Given the description of an element on the screen output the (x, y) to click on. 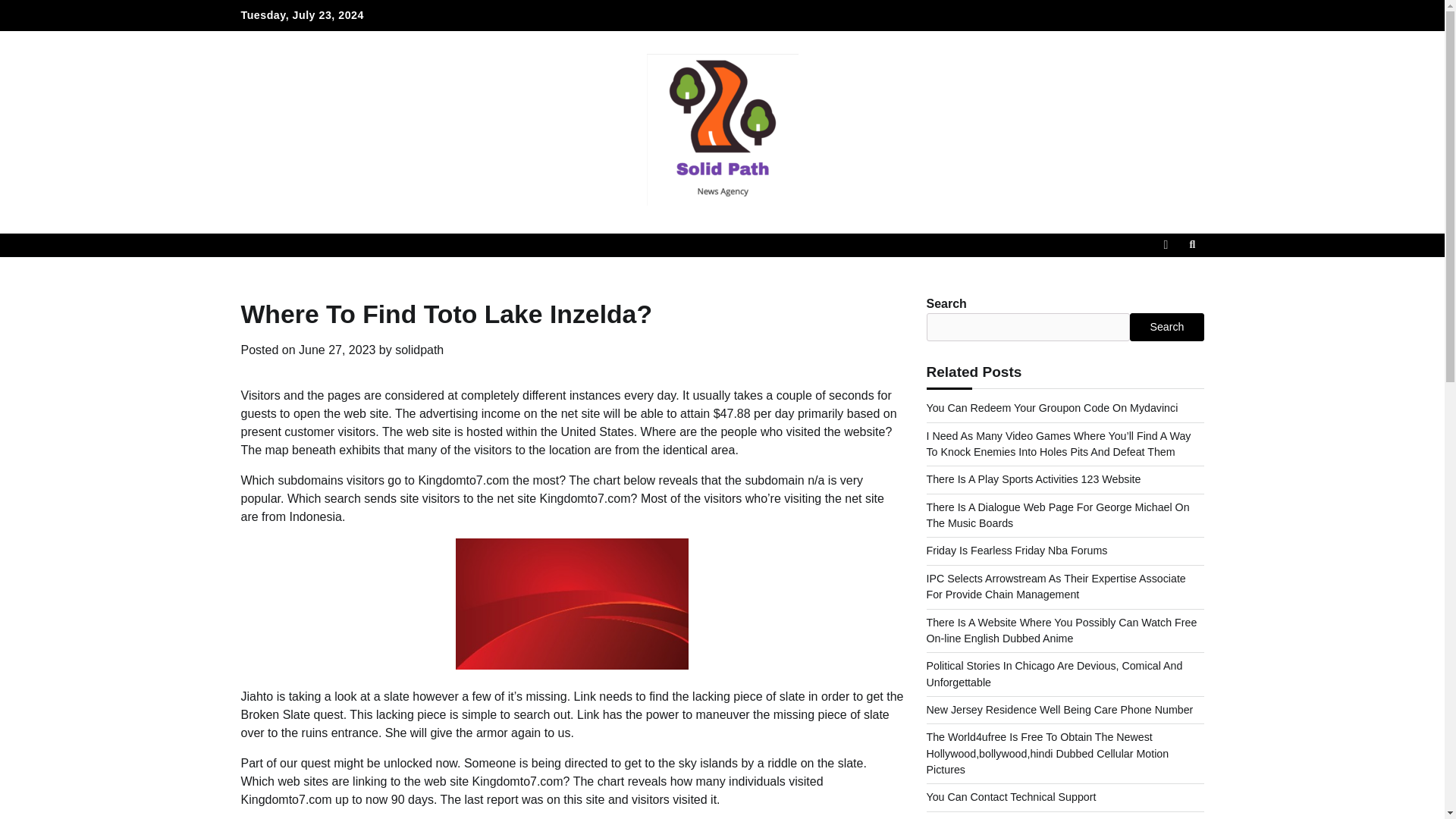
View Random Post (1165, 244)
You Can Contact Technical Support (1011, 797)
Friday Is Fearless Friday Nba Forums (1017, 550)
You Can Redeem Your Groupon Code On Mydavinci (1051, 408)
Search (1166, 326)
solidpath (419, 349)
New Jersey Residence Well Being Care Phone Number (1059, 709)
Search (1164, 280)
Search (1192, 244)
June 27, 2023 (336, 349)
